Given the description of an element on the screen output the (x, y) to click on. 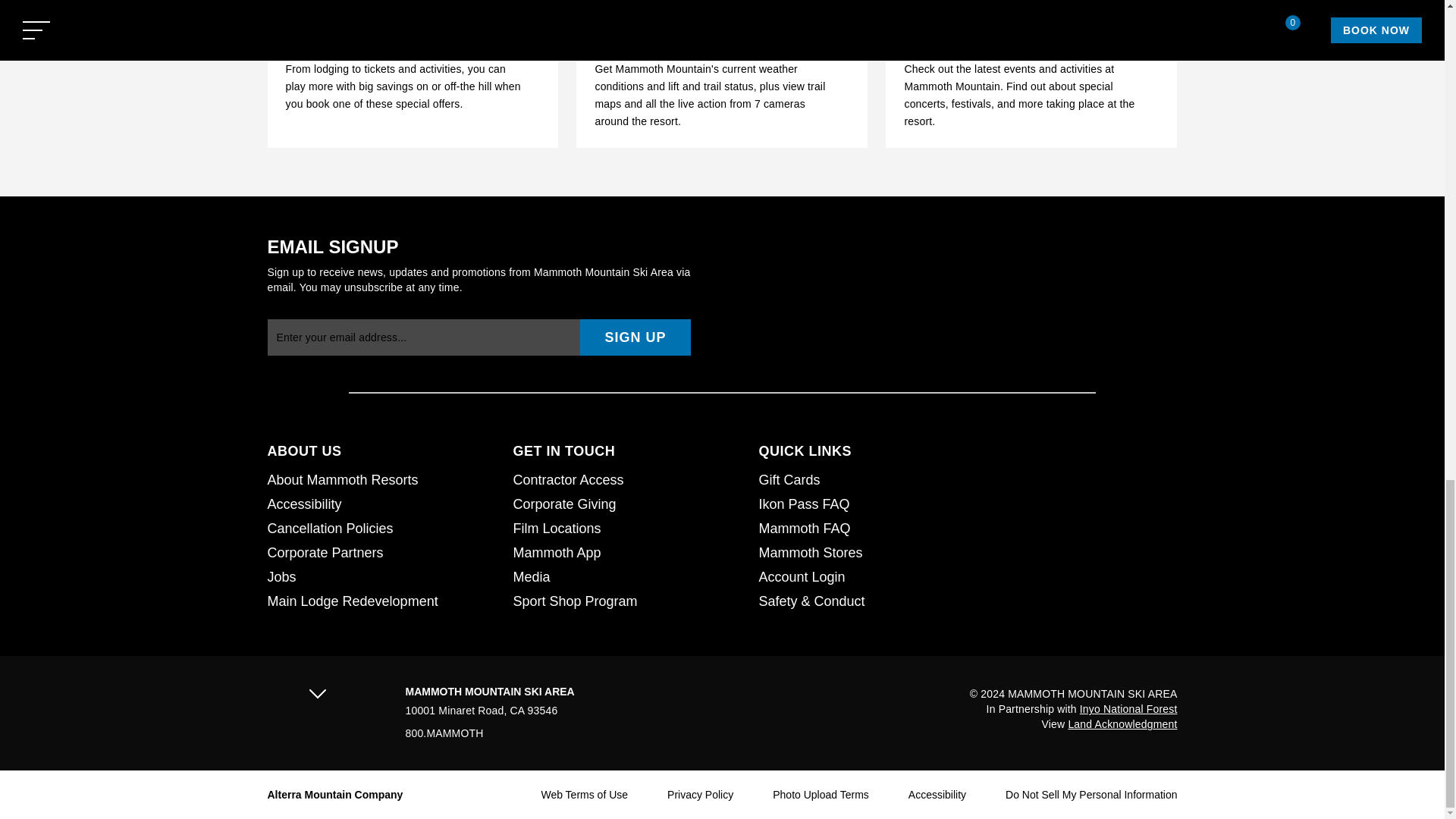
ABOUT US (380, 451)
Corporate Partners (380, 552)
About Mammoth Resorts (380, 479)
SIGN UP (634, 337)
Accessibility (380, 504)
Cancellation Policies (380, 528)
